Given the description of an element on the screen output the (x, y) to click on. 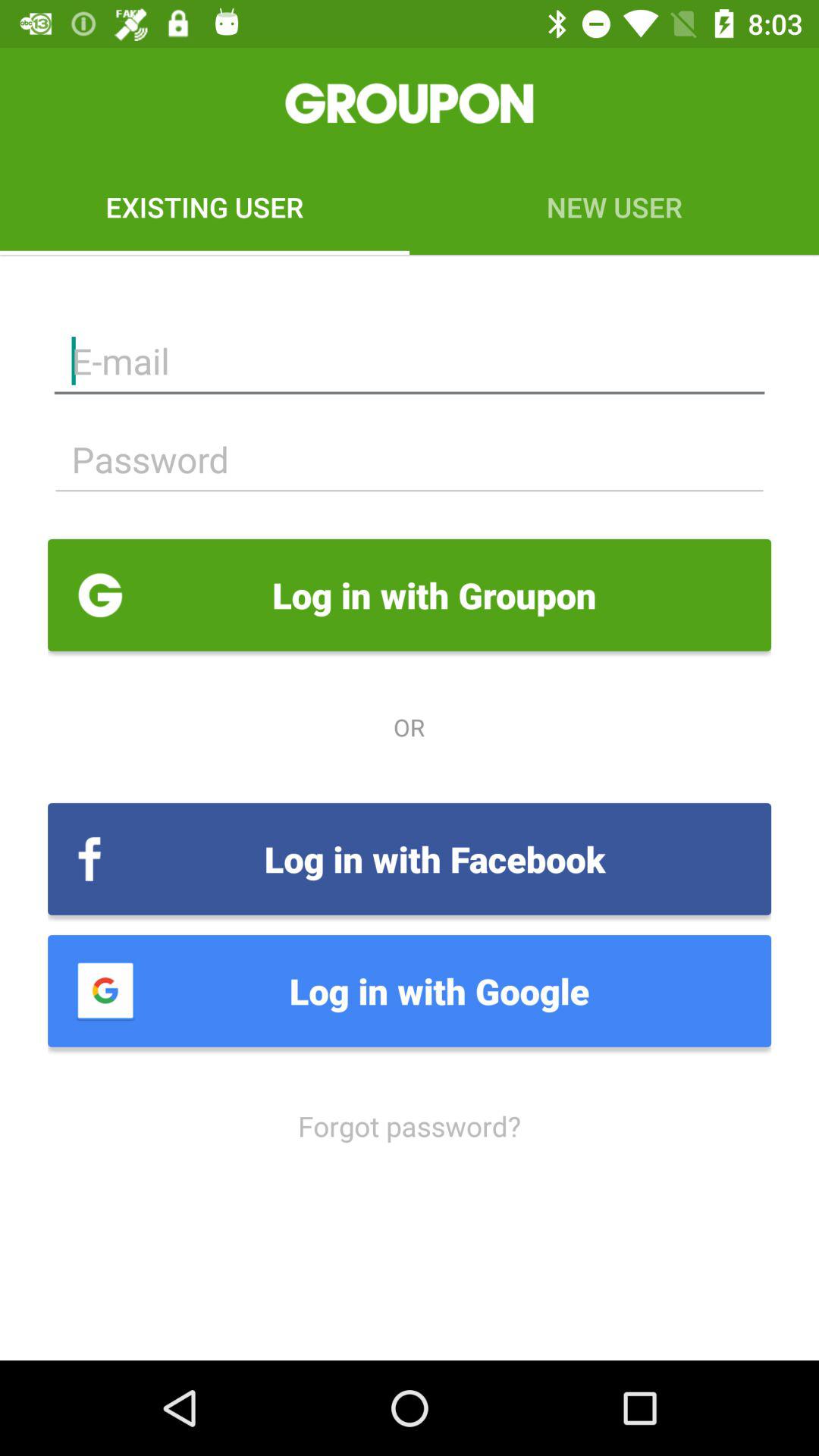
password field (409, 459)
